Given the description of an element on the screen output the (x, y) to click on. 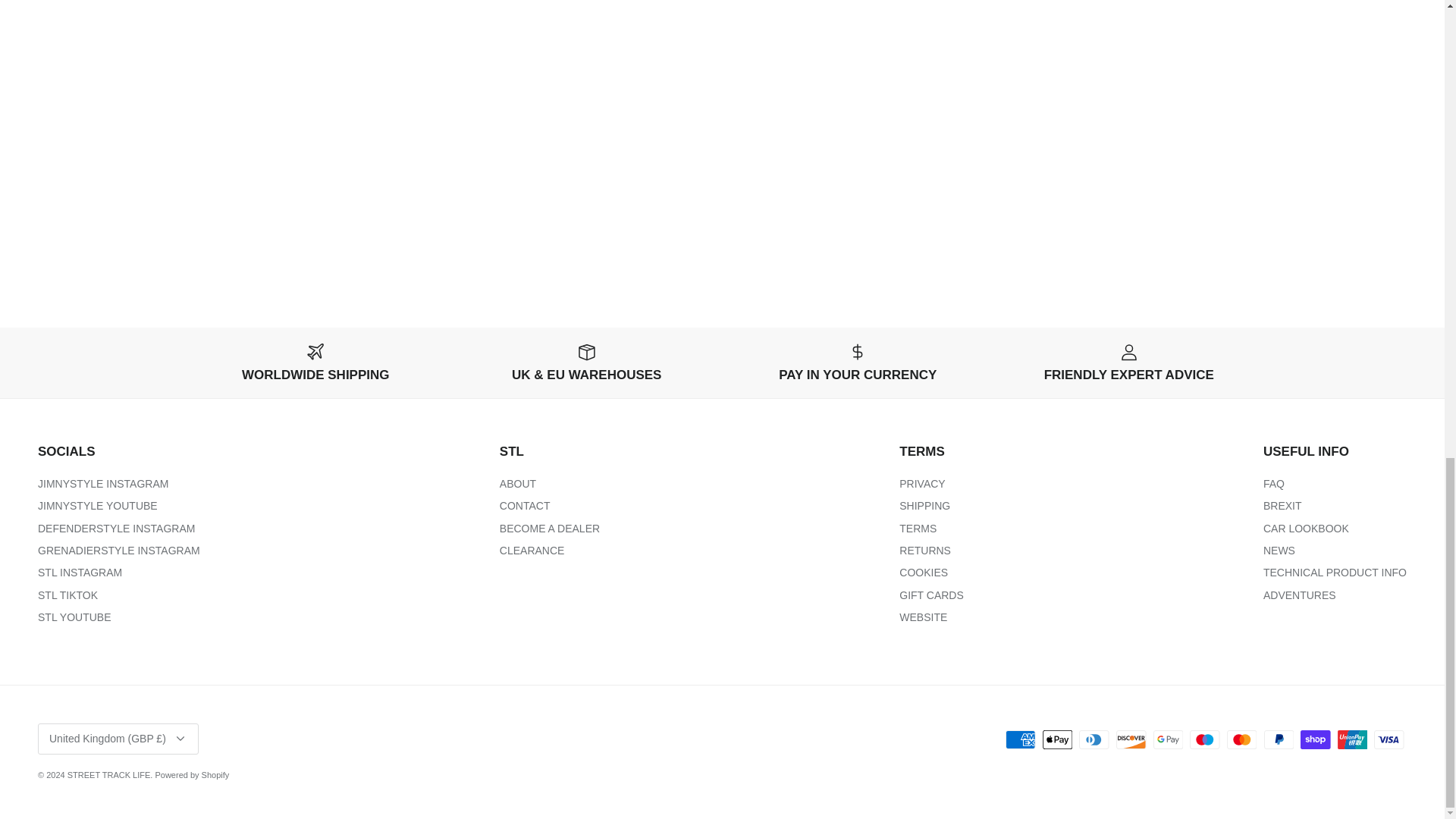
Diners Club (1093, 739)
Apple Pay (1057, 739)
American Express (1020, 739)
